Given the description of an element on the screen output the (x, y) to click on. 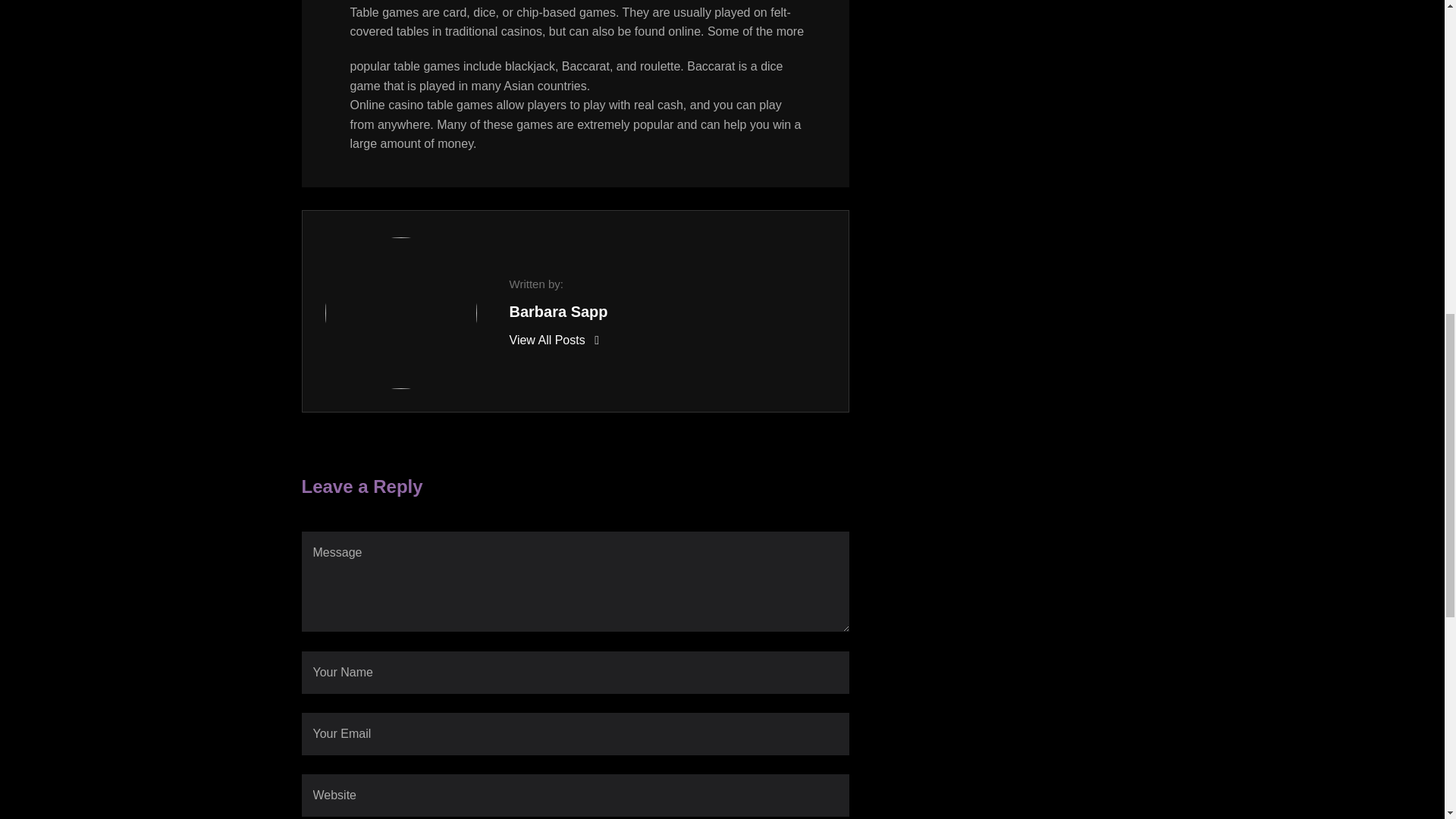
View All Posts (553, 339)
